Given the description of an element on the screen output the (x, y) to click on. 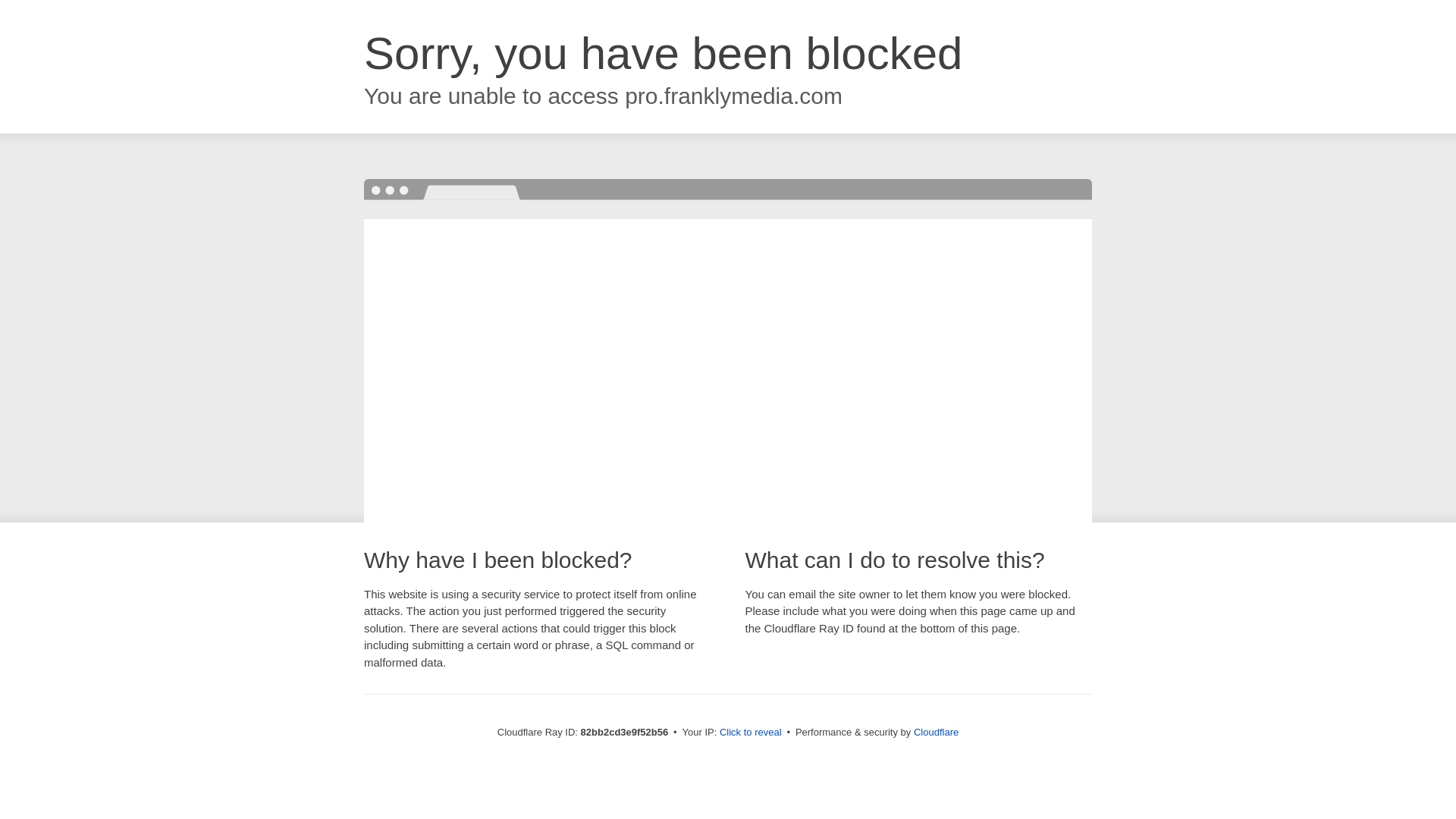
Cloudflare Element type: text (935, 731)
Click to reveal Element type: text (750, 732)
